Given the description of an element on the screen output the (x, y) to click on. 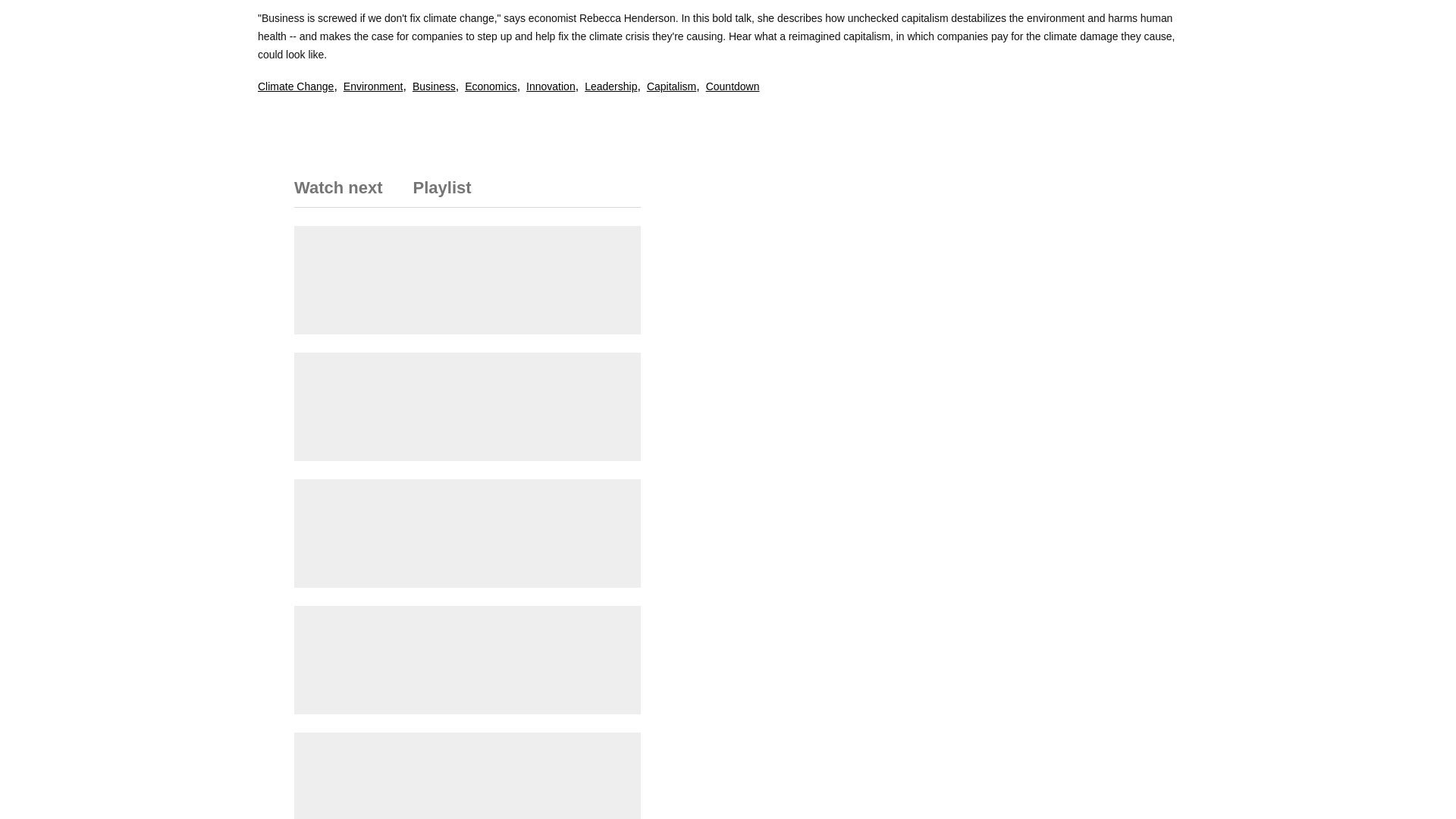
Capitalism (670, 86)
Leadership (611, 86)
Innovation (550, 86)
Watch next (345, 192)
Business (433, 86)
Economics (490, 86)
Climate Change (295, 86)
Playlist (434, 192)
Countdown (733, 86)
